Given the description of an element on the screen output the (x, y) to click on. 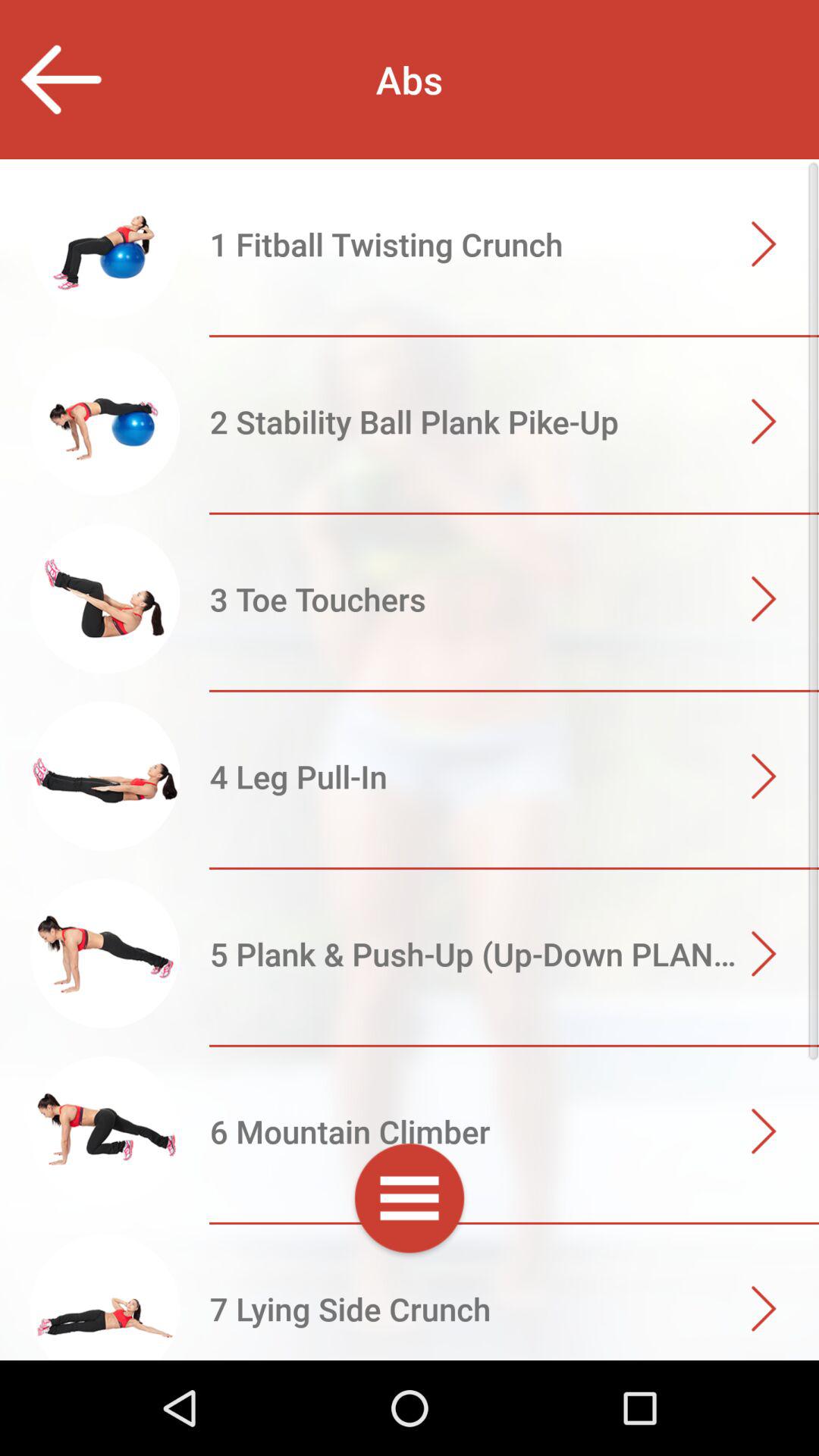
show settings (409, 1200)
